Given the description of an element on the screen output the (x, y) to click on. 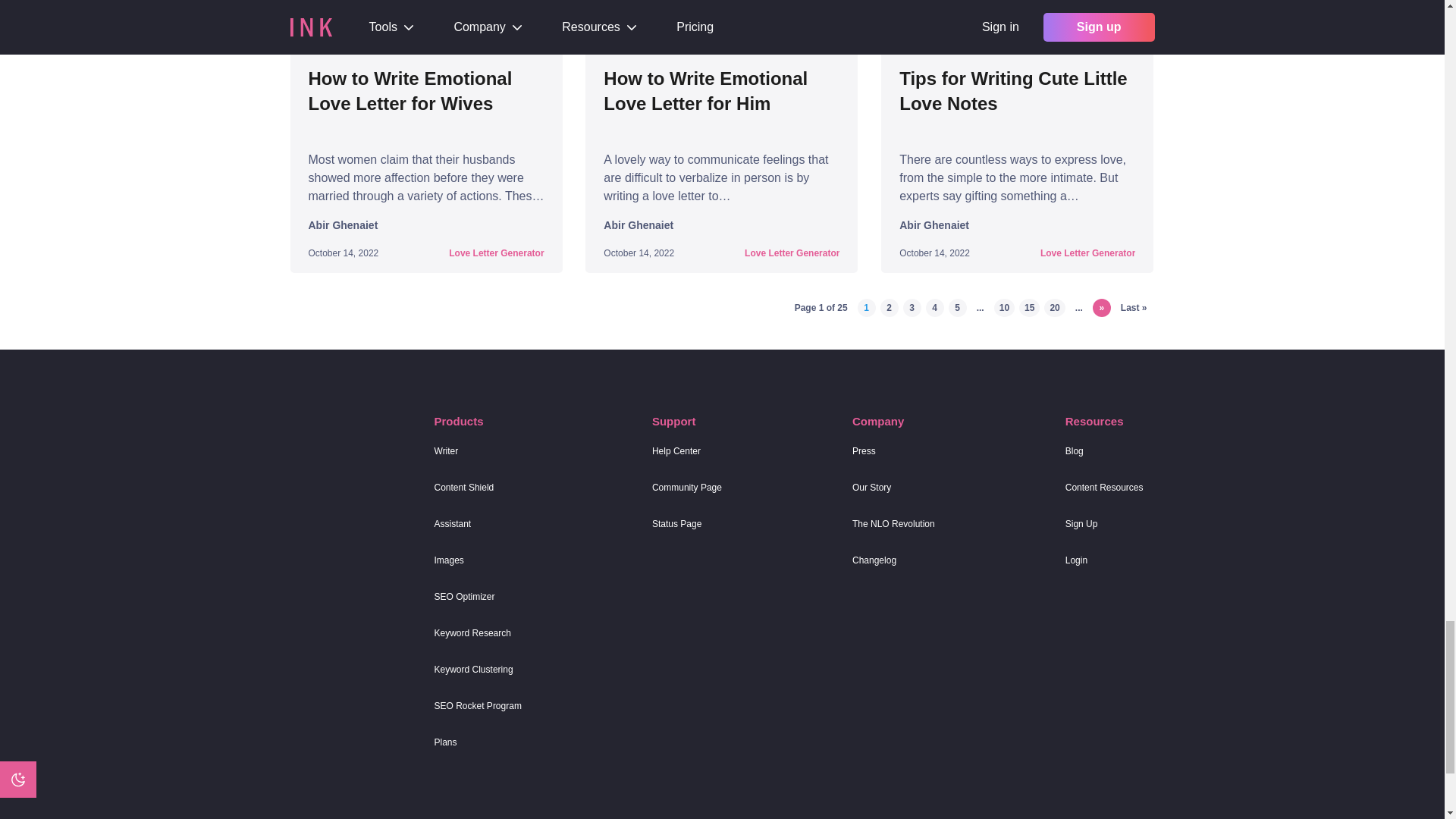
Page 5 (957, 307)
Page 4 (934, 307)
Page 3 (911, 307)
Page 20 (1053, 307)
Page 10 (1004, 307)
Page 15 (1029, 307)
Page 2 (889, 307)
